Given the description of an element on the screen output the (x, y) to click on. 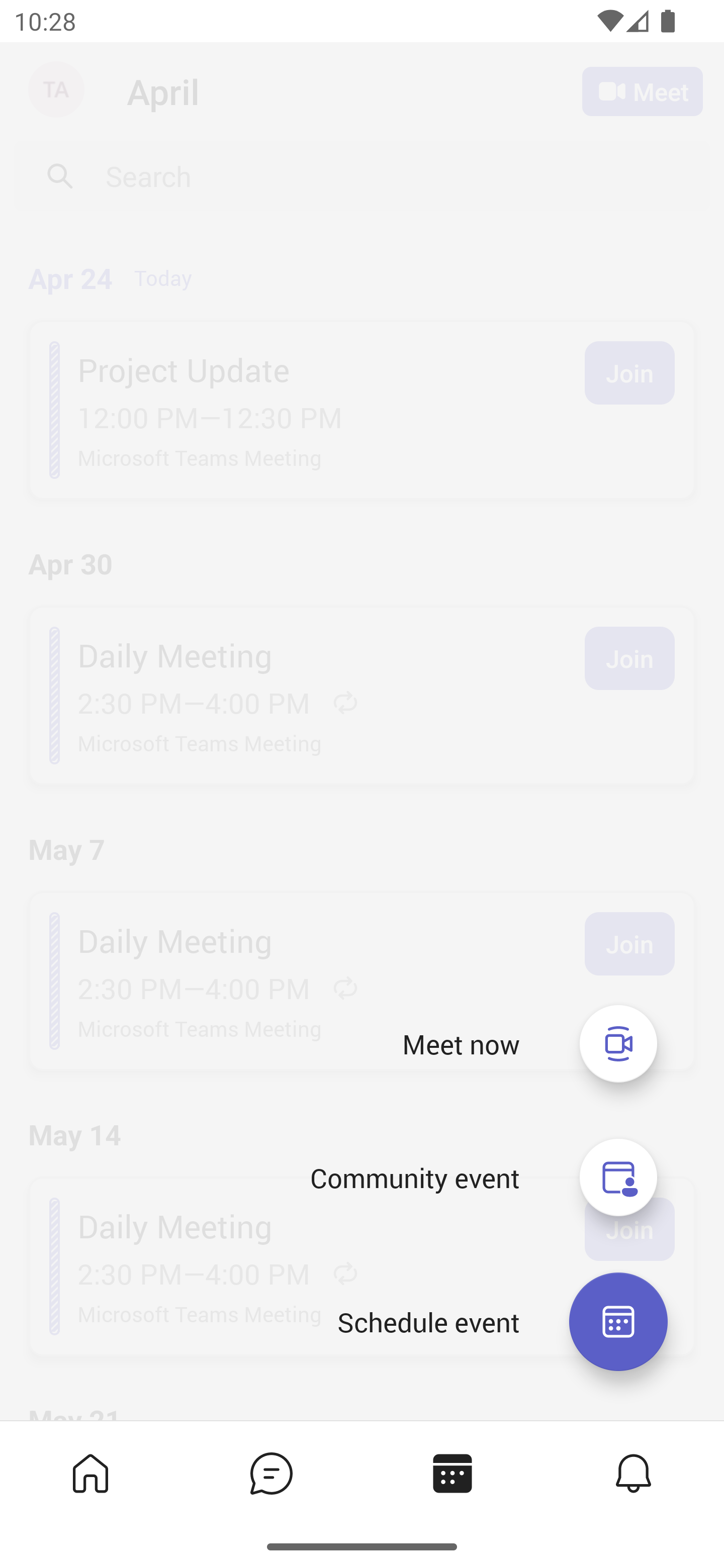
Meet now (618, 1043)
Meet now (461, 1044)
Community event (618, 1177)
Community event (414, 1177)
Schedule event (618, 1321)
Schedule event (428, 1321)
Home tab,1 of 4, not selected (90, 1472)
Chat tab,2 of 4, not selected (271, 1472)
Calendar tab, 3 of 4 (452, 1472)
Activity tab,4 of 4, not selected (633, 1472)
